Given the description of an element on the screen output the (x, y) to click on. 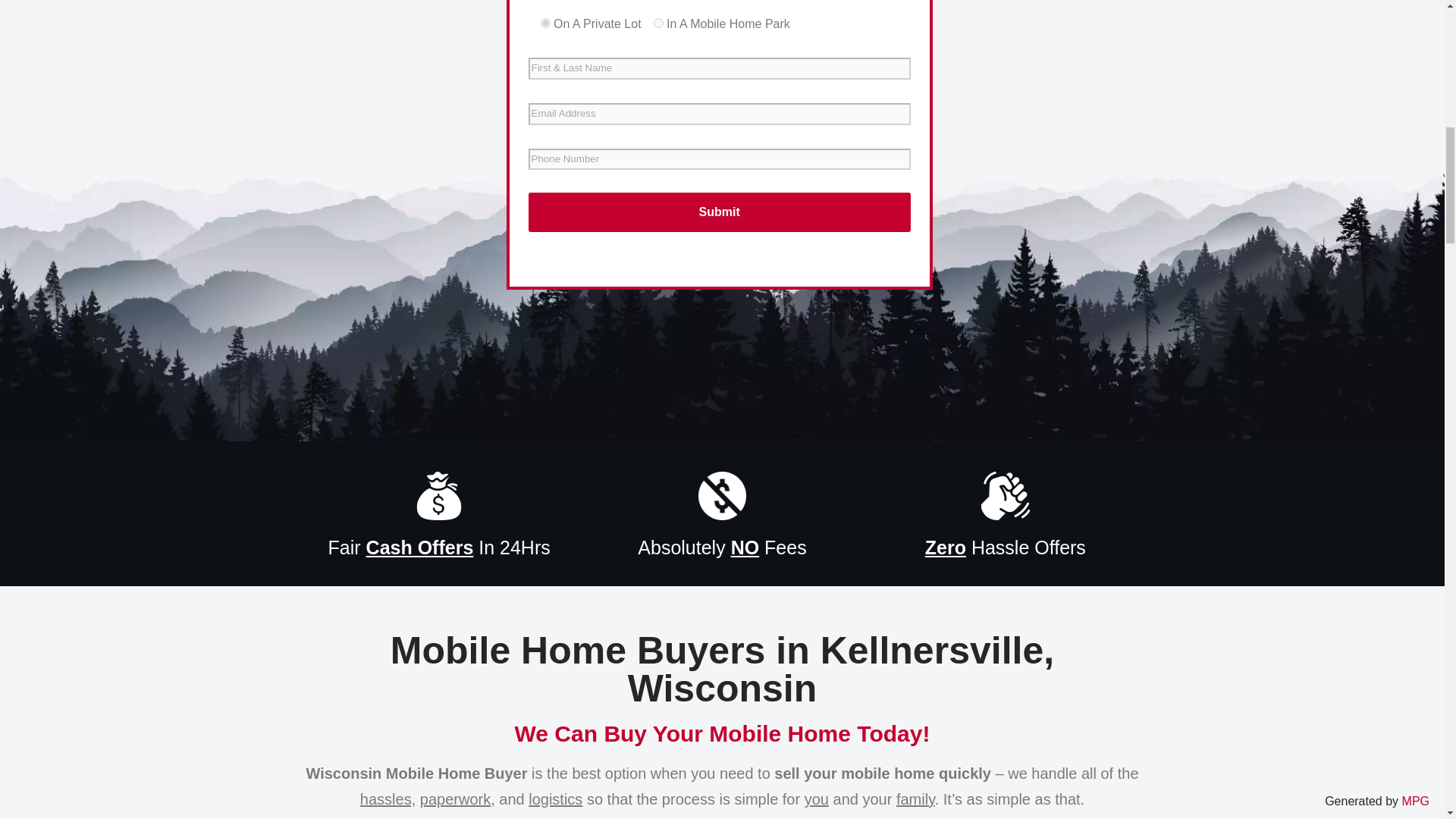
Submit (718, 211)
In A Mobile Home Park (658, 22)
Submit (718, 211)
On A Private Lot (545, 22)
